Given the description of an element on the screen output the (x, y) to click on. 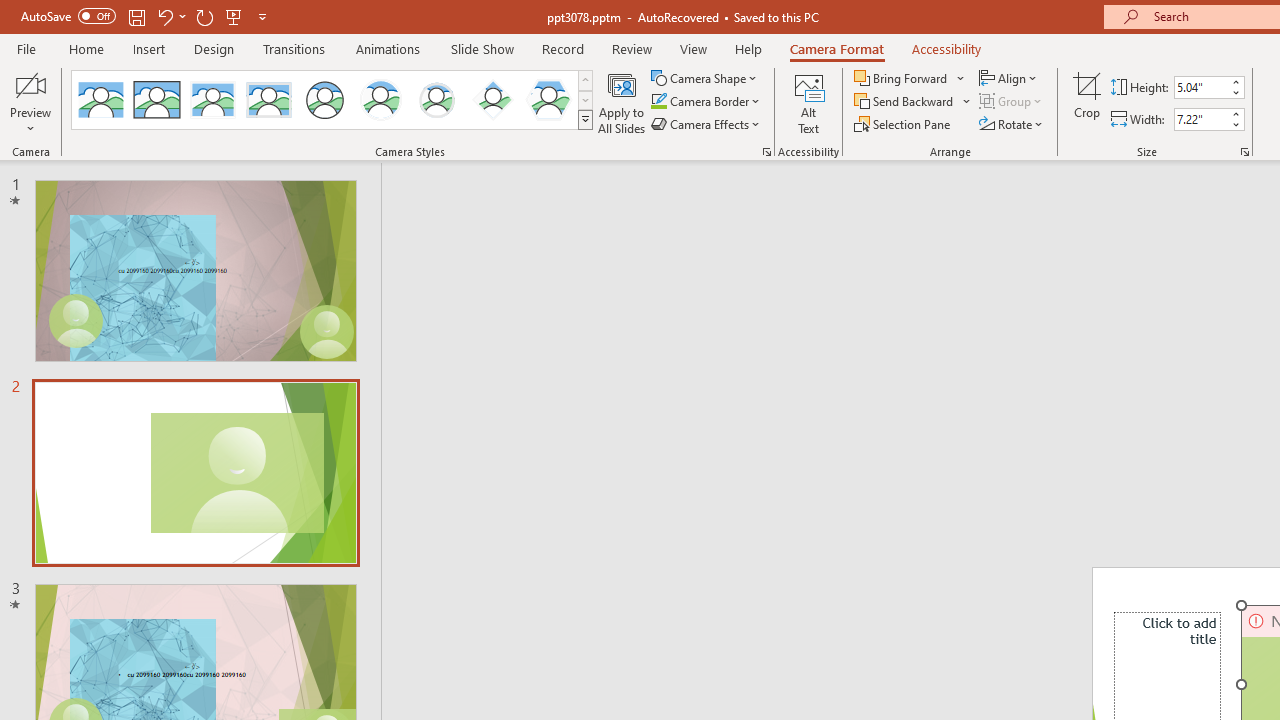
Soft Edge Circle (436, 100)
Cameo Height (1201, 87)
Enable Camera Preview (30, 84)
AutomationID: CameoStylesGallery (333, 99)
Apply to All Slides (621, 102)
Size and Position... (1244, 151)
Crop (1087, 102)
Center Shadow Diamond (492, 100)
Send Backward (905, 101)
